Given the description of an element on the screen output the (x, y) to click on. 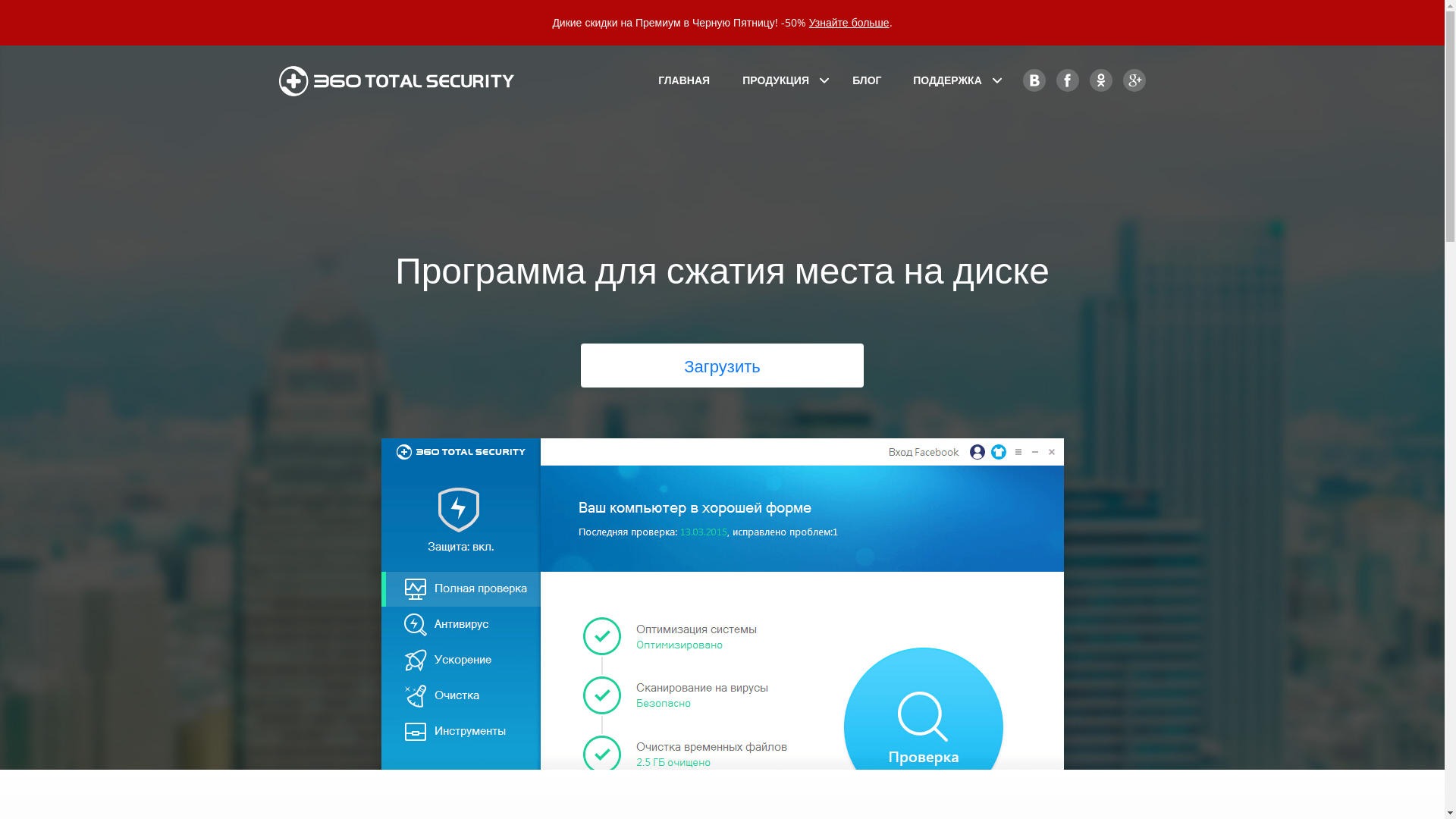
360 Total Security Element type: text (404, 80)
